Given the description of an element on the screen output the (x, y) to click on. 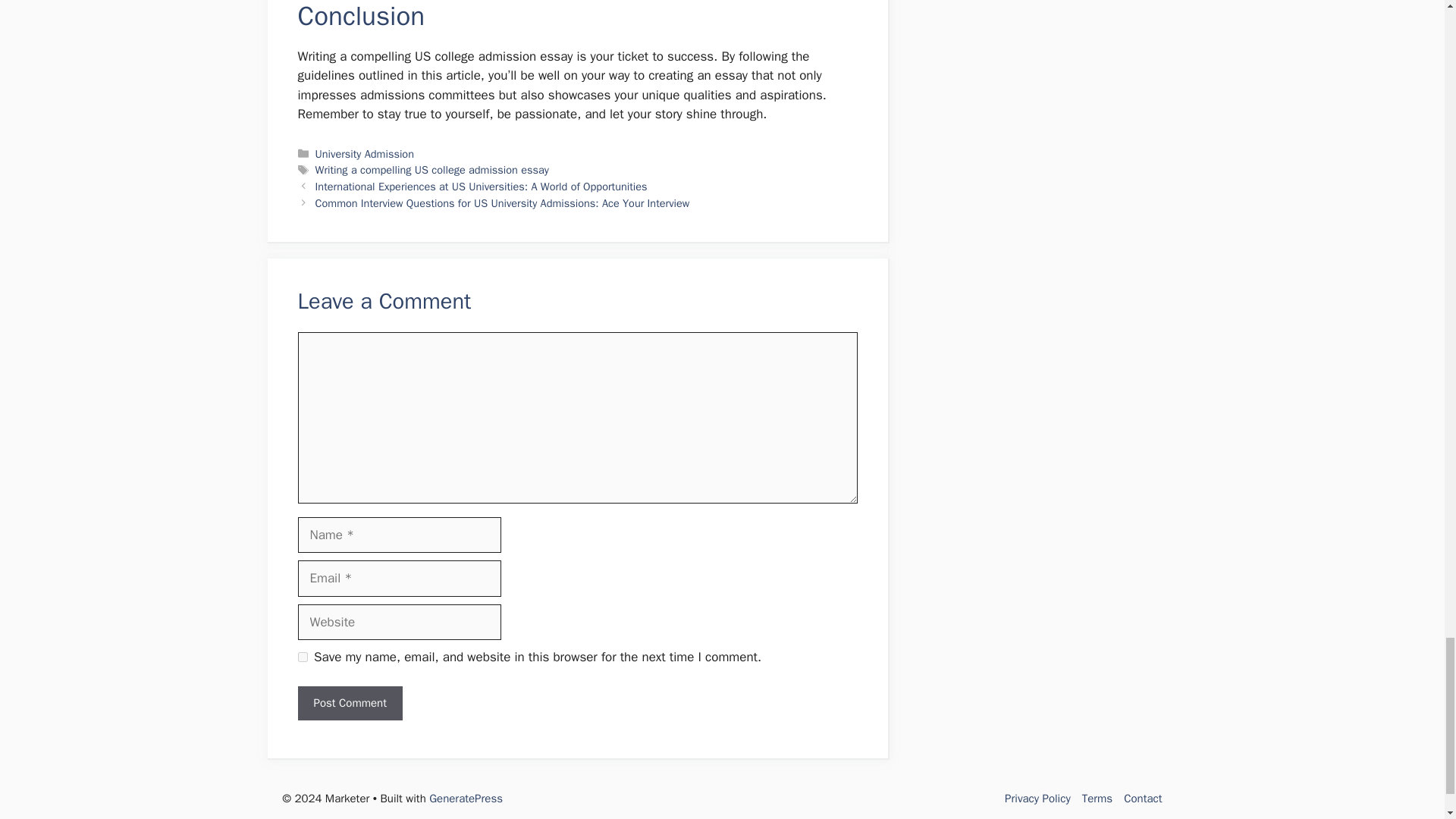
Writing a compelling US college admission essay (431, 169)
Post Comment (349, 703)
GeneratePress (465, 798)
University Admission (364, 153)
yes (302, 656)
Post Comment (349, 703)
